Given the description of an element on the screen output the (x, y) to click on. 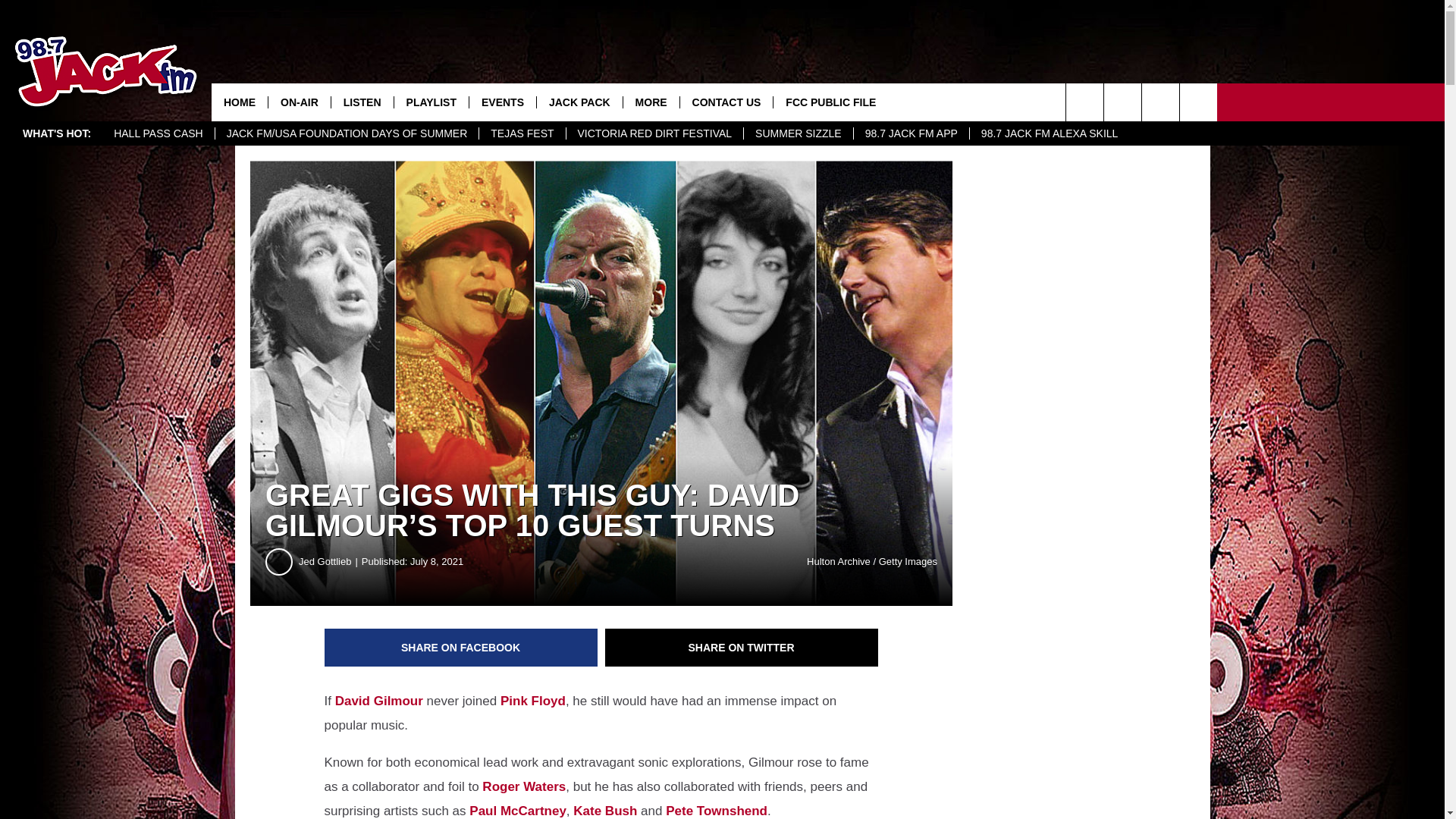
CONTACT US (726, 102)
PLAYLIST (430, 102)
HALL PASS CASH (157, 133)
LISTEN (361, 102)
Share on Facebook (460, 647)
MORE (651, 102)
SUMMER SIZZLE (797, 133)
EVENTS (501, 102)
HOME (239, 102)
Share on Twitter (741, 647)
